Given the description of an element on the screen output the (x, y) to click on. 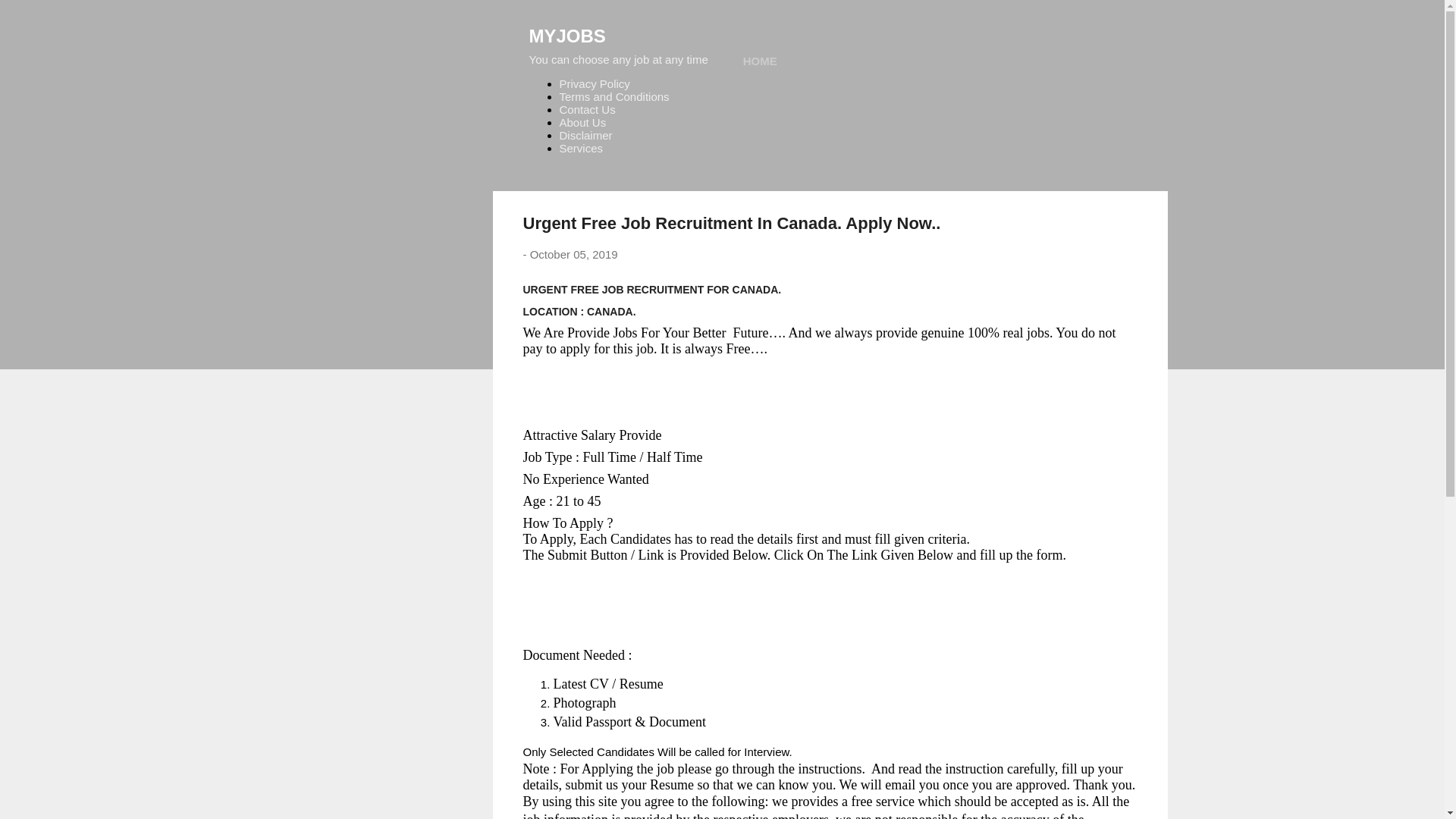
permanent link (573, 254)
October 05, 2019 (573, 254)
MYJOBS (567, 35)
Privacy Policy (594, 83)
Terms and Conditions (614, 96)
About Us (583, 122)
Services (581, 147)
Search (29, 18)
Disclaimer (585, 134)
HOME (759, 60)
Contact Us (587, 109)
